Given the description of an element on the screen output the (x, y) to click on. 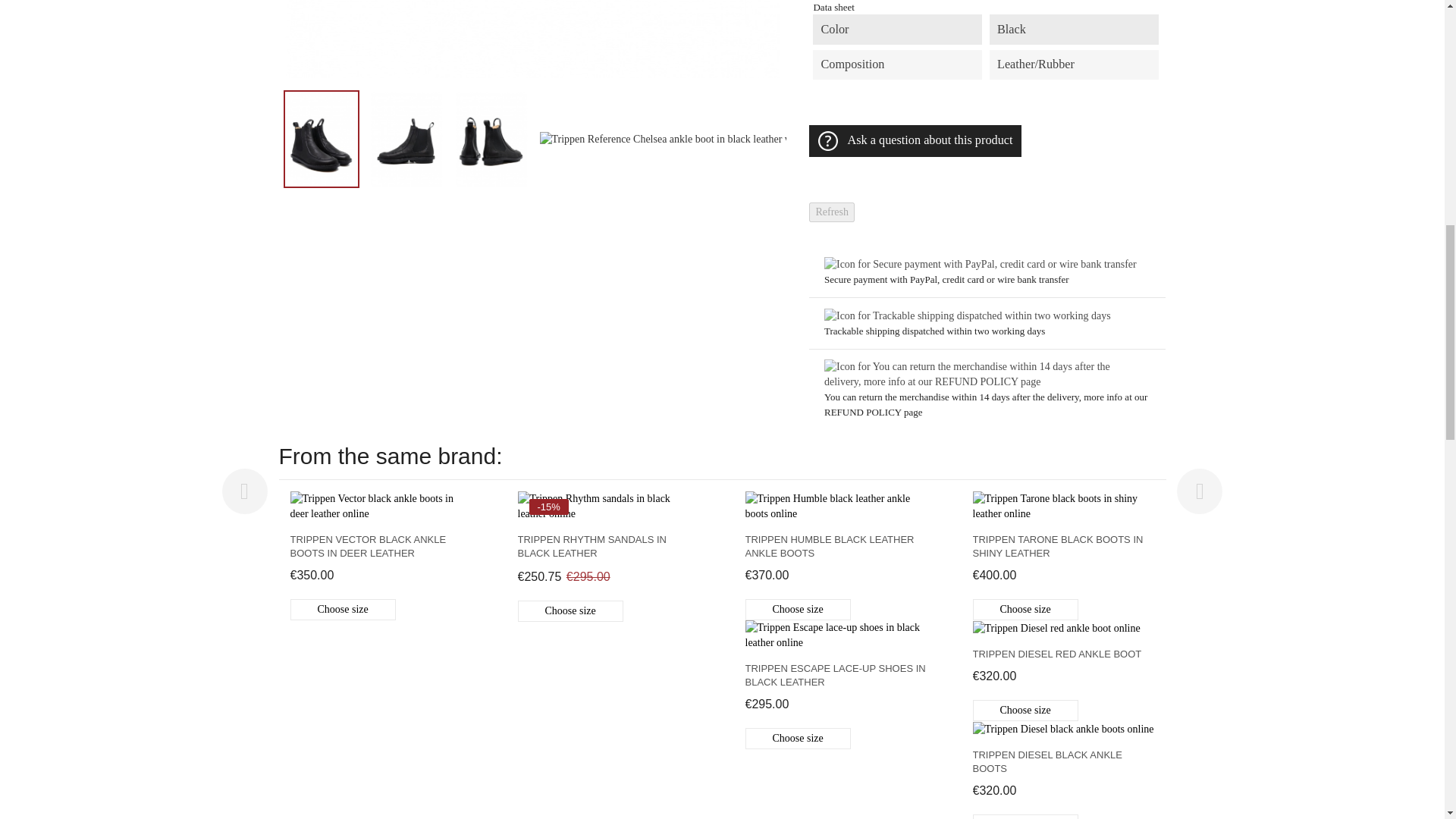
Refresh (831, 211)
